Given the description of an element on the screen output the (x, y) to click on. 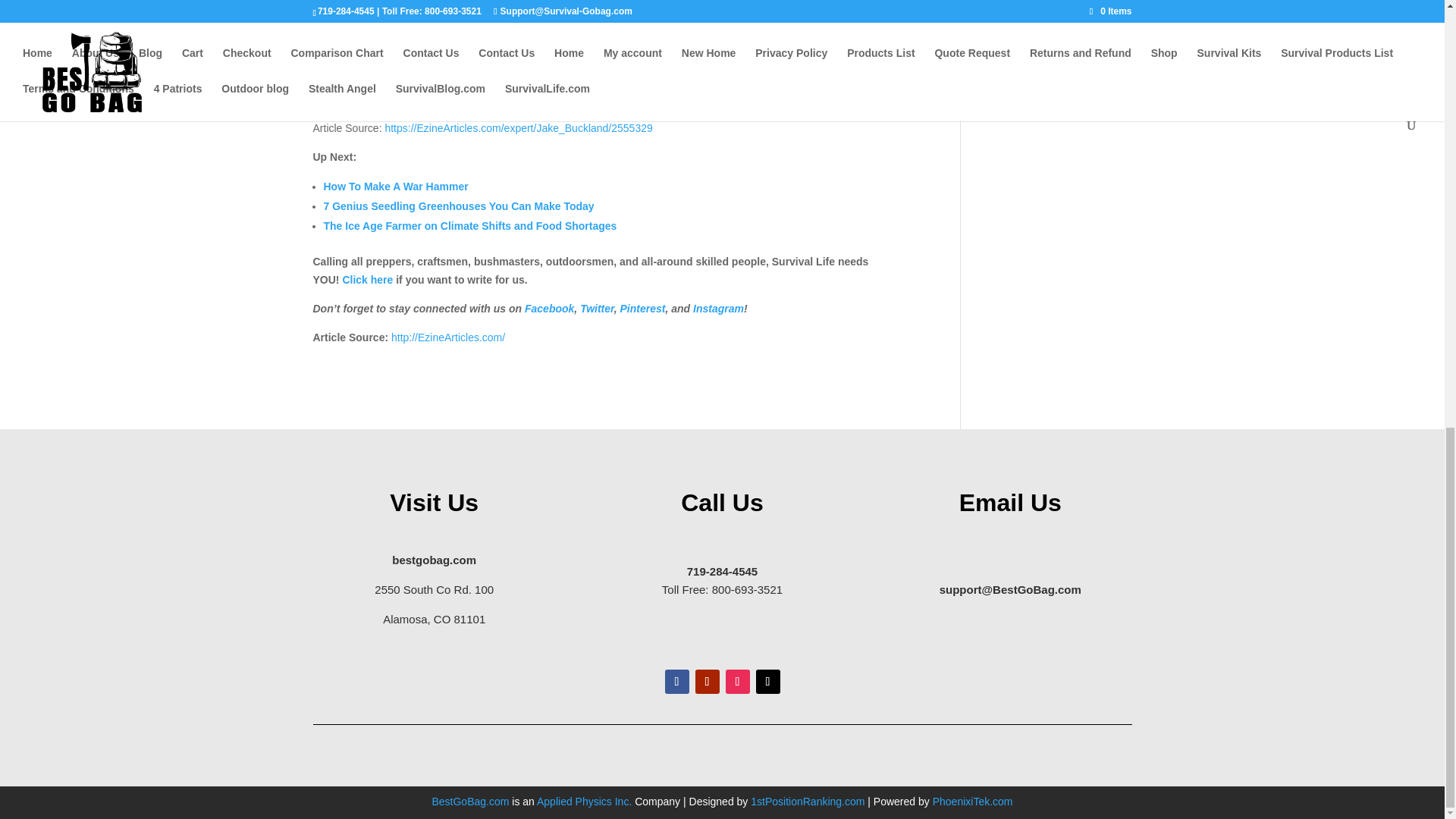
Follow on X (766, 681)
7 Genius Seedling Greenhouses You Can Make Today (458, 205)
The Ice Age Farmer on Climate Shifts and Food Shortages (469, 225)
Instagram (718, 308)
Follow on Facebook (675, 681)
How To Make A War Hammer (395, 186)
Twitter (596, 308)
Click here (367, 279)
Facebook (548, 308)
Pinterest (642, 308)
